Given the description of an element on the screen output the (x, y) to click on. 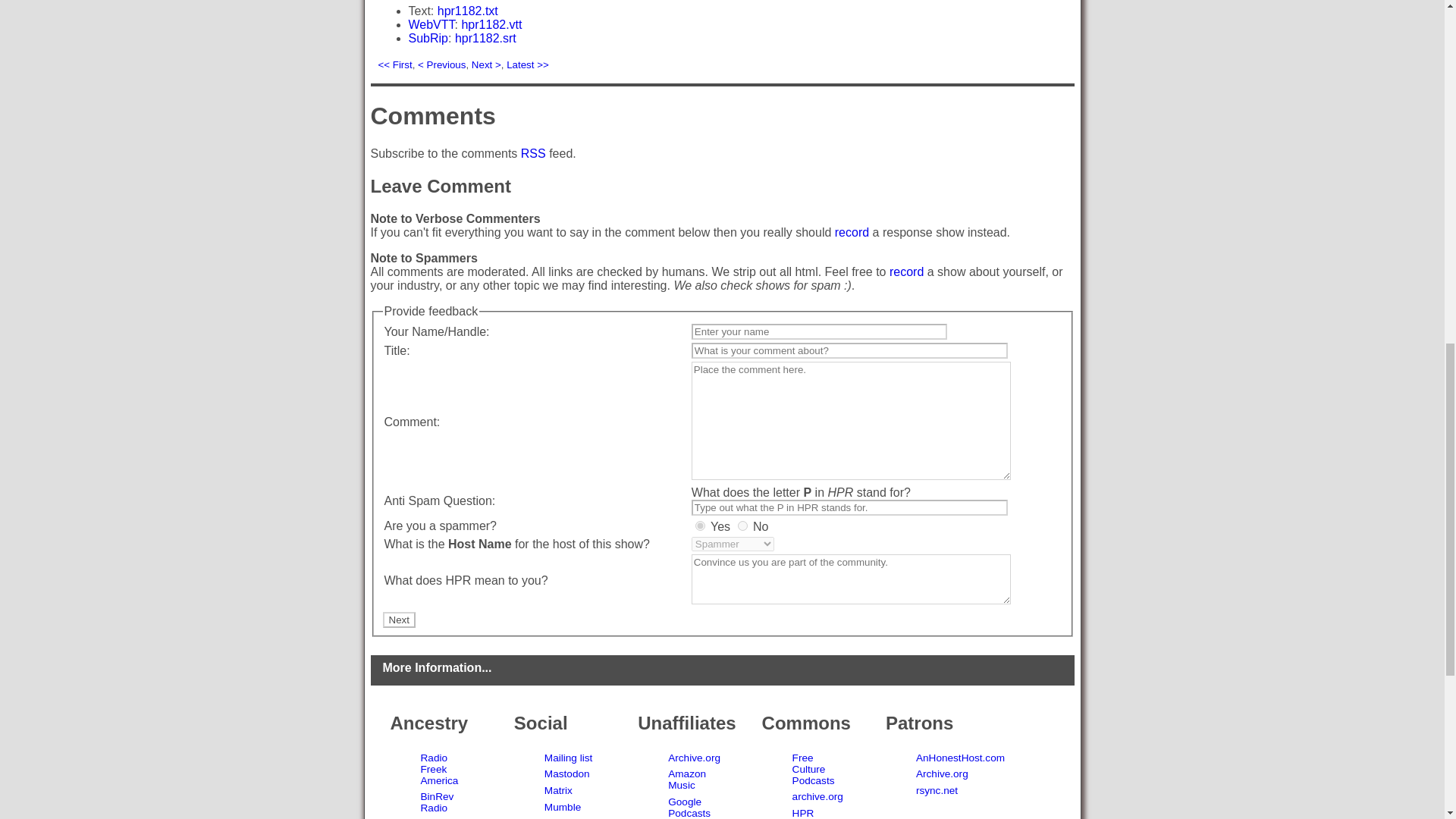
Next (397, 619)
SubRip (426, 38)
hpr1182.vtt (491, 24)
hpr1182.txt (467, 10)
Yes (699, 525)
No (743, 525)
WebVTT (430, 24)
hpr1182.srt (485, 38)
